Given the description of an element on the screen output the (x, y) to click on. 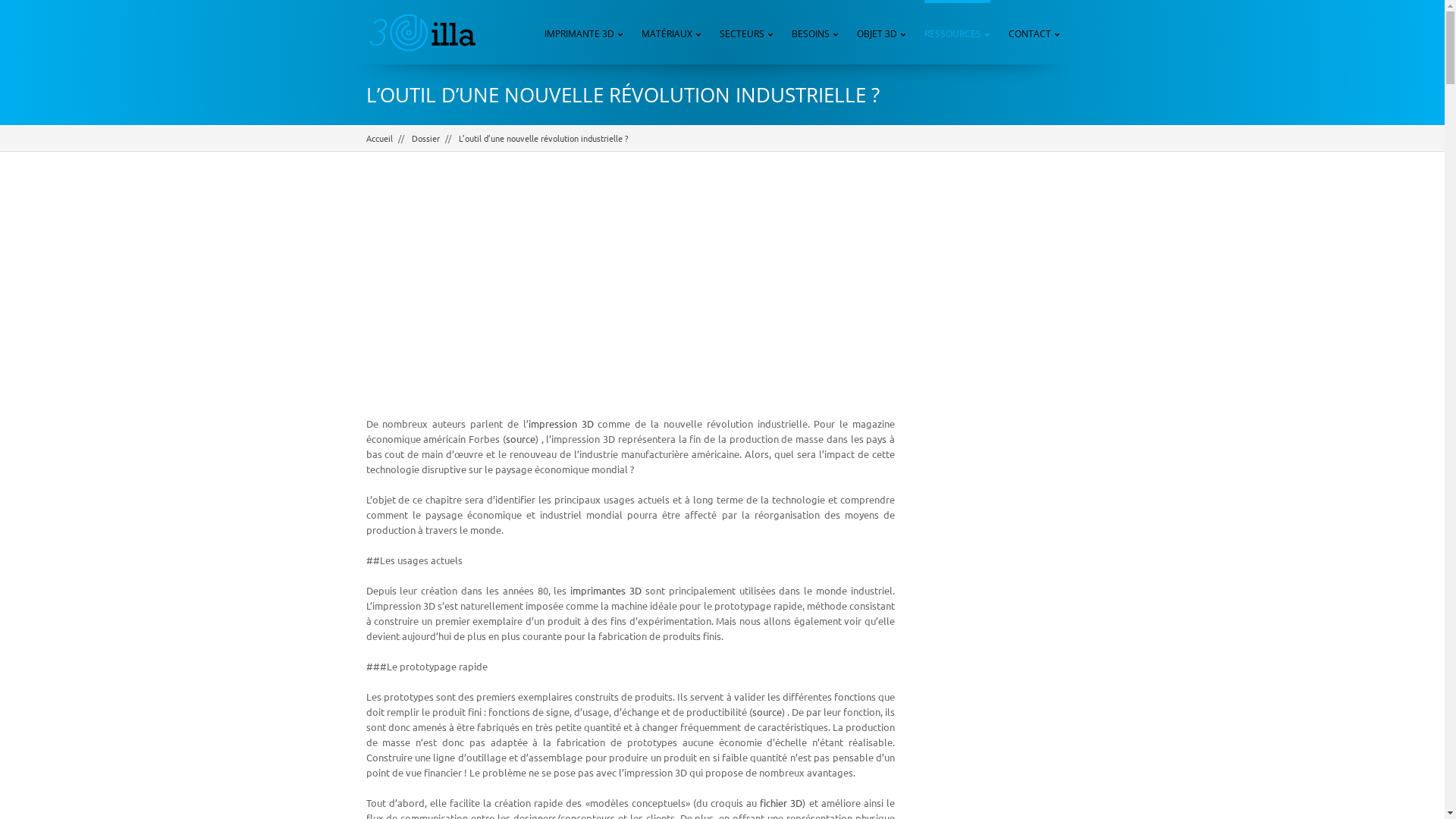
SECTEURS Element type: text (746, 32)
RESSOURCES Element type: text (957, 32)
imprimantes 3D Element type: text (605, 589)
Advertisement Element type: hover (629, 294)
CONTACT Element type: text (1034, 32)
IMPRIMANTE 3D Element type: text (583, 32)
Accueil Element type: text (378, 137)
source Element type: text (520, 438)
Dossier Element type: text (425, 137)
fichier 3D Element type: text (780, 802)
source Element type: text (766, 711)
impression 3D Element type: text (560, 423)
Advertisement Element type: hover (998, 415)
OBJET 3D Element type: text (881, 32)
BESOINS Element type: text (814, 32)
